Given the description of an element on the screen output the (x, y) to click on. 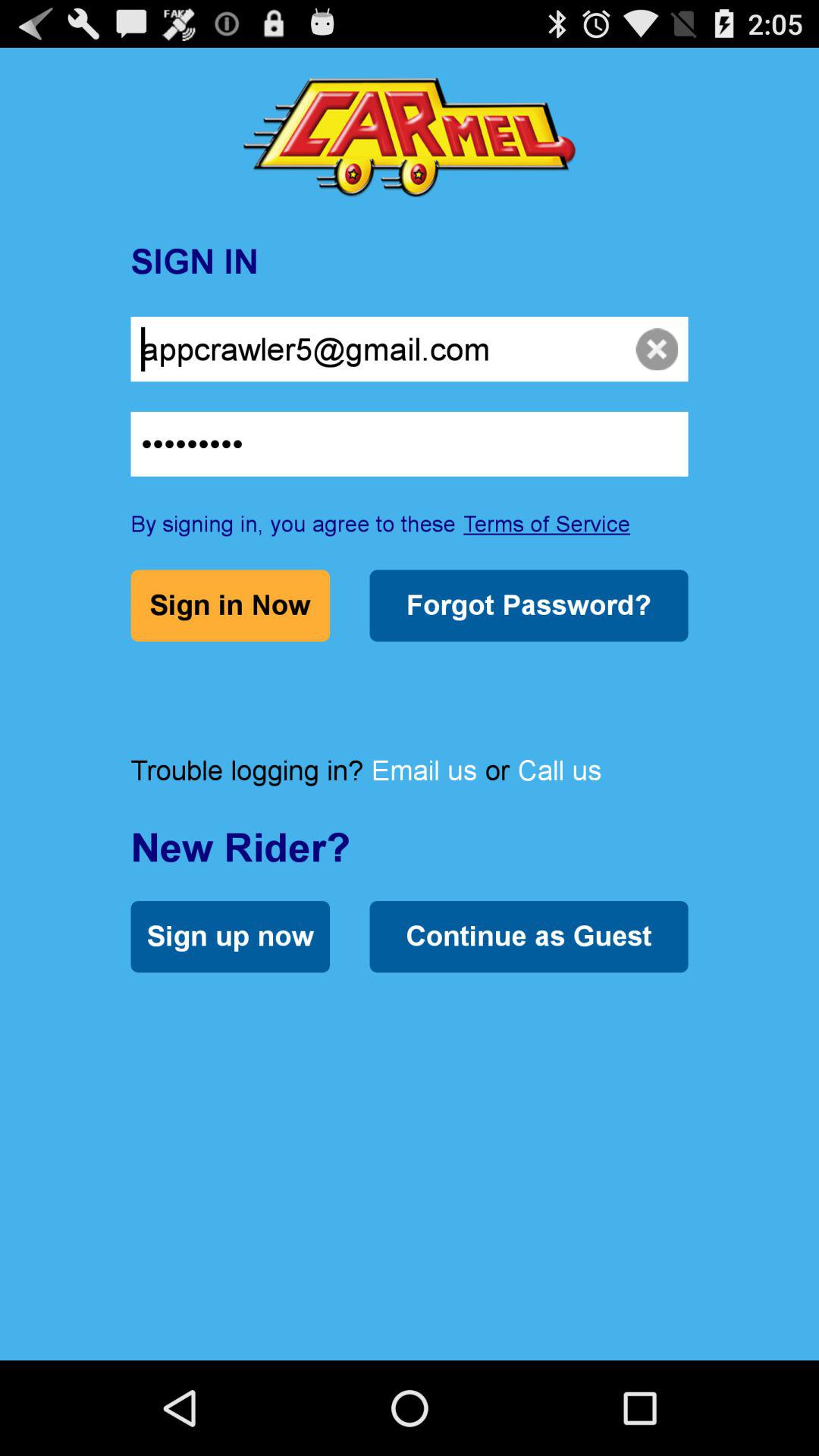
scroll to email us  icon (424, 770)
